Given the description of an element on the screen output the (x, y) to click on. 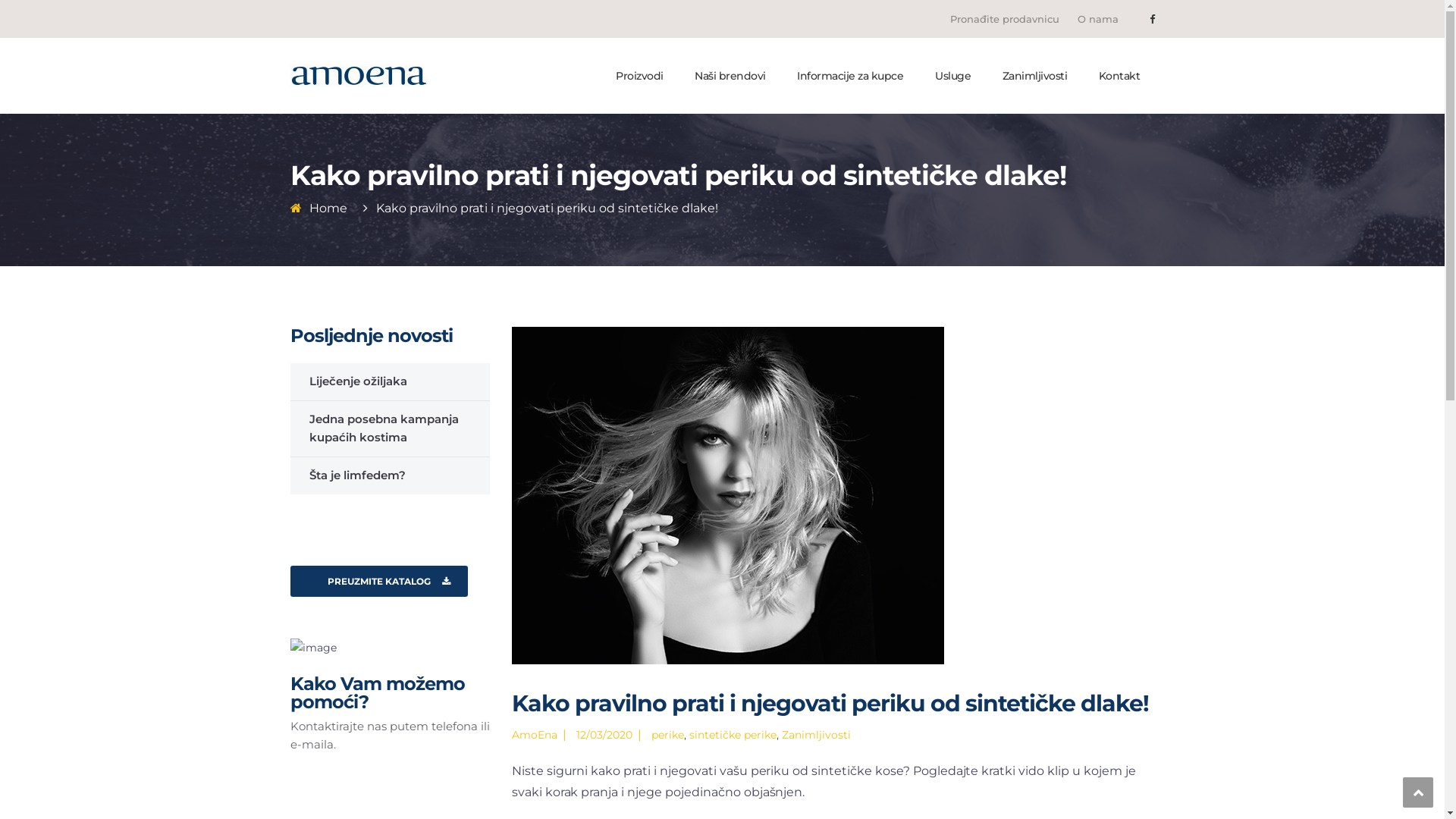
AMOENA Element type: hover (357, 74)
Usluge Element type: text (951, 75)
Informacije za kupce Element type: text (849, 75)
O nama Element type: text (1098, 18)
Kontakt Element type: text (1117, 75)
Zanimljivosti Element type: text (815, 734)
PREUZMITE KATALOG Element type: text (378, 580)
Zanimljivosti Element type: text (1033, 75)
perike Element type: text (667, 734)
https://www.facebook.com/amoenabh Element type: hover (1151, 18)
Proizvodi Element type: text (638, 75)
AmoEna Element type: text (534, 734)
Home Element type: text (328, 207)
12/03/2020 Element type: text (604, 734)
